Given the description of an element on the screen output the (x, y) to click on. 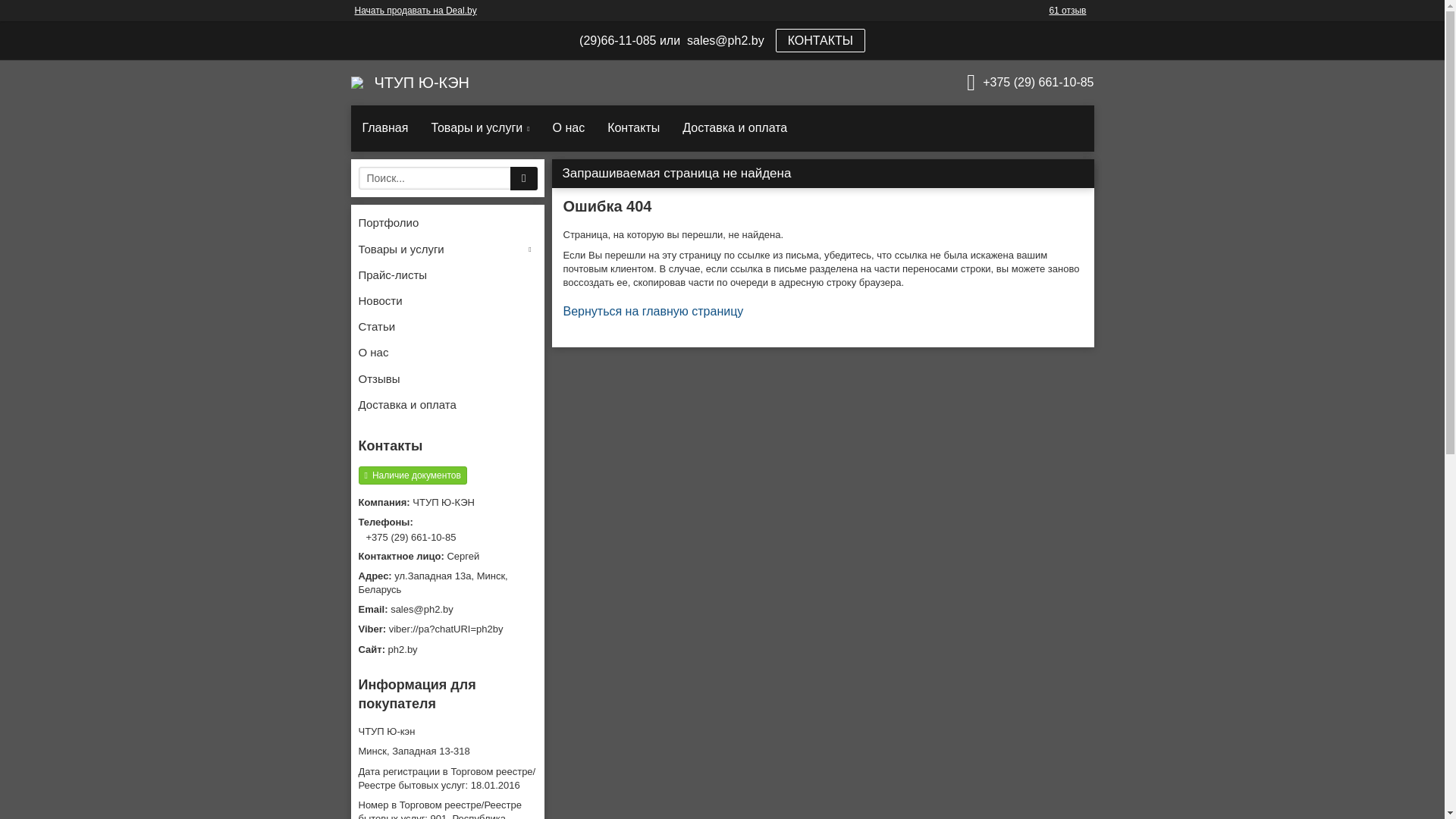
ph2.by Element type: text (446, 649)
sales@ph2.by Element type: text (446, 609)
